Given the description of an element on the screen output the (x, y) to click on. 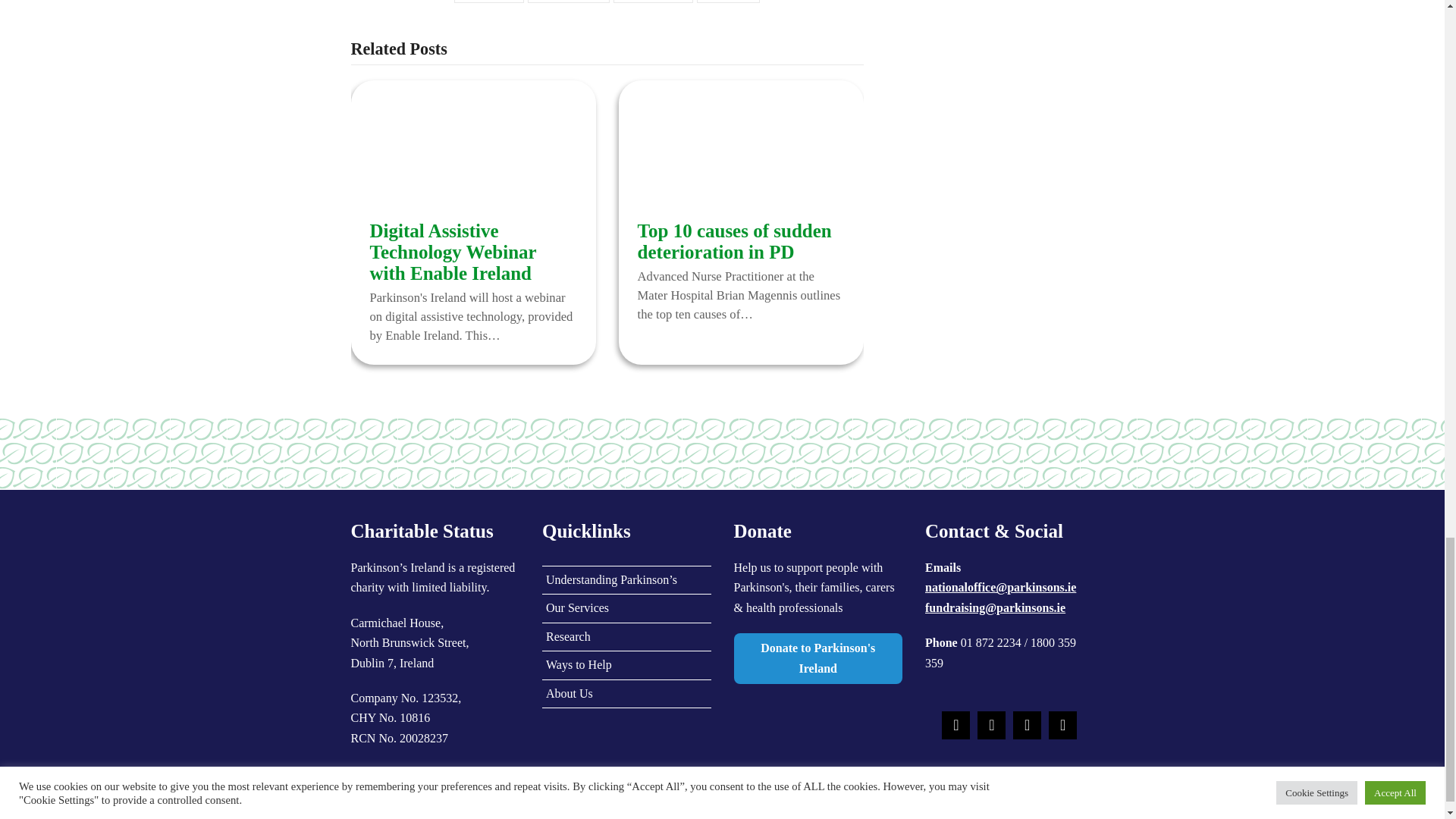
Top 10 causes of sudden deterioration in PD (740, 152)
Digital Assistive Technology Webinar with Enable Ireland (472, 152)
TripleLock (818, 740)
